Given the description of an element on the screen output the (x, y) to click on. 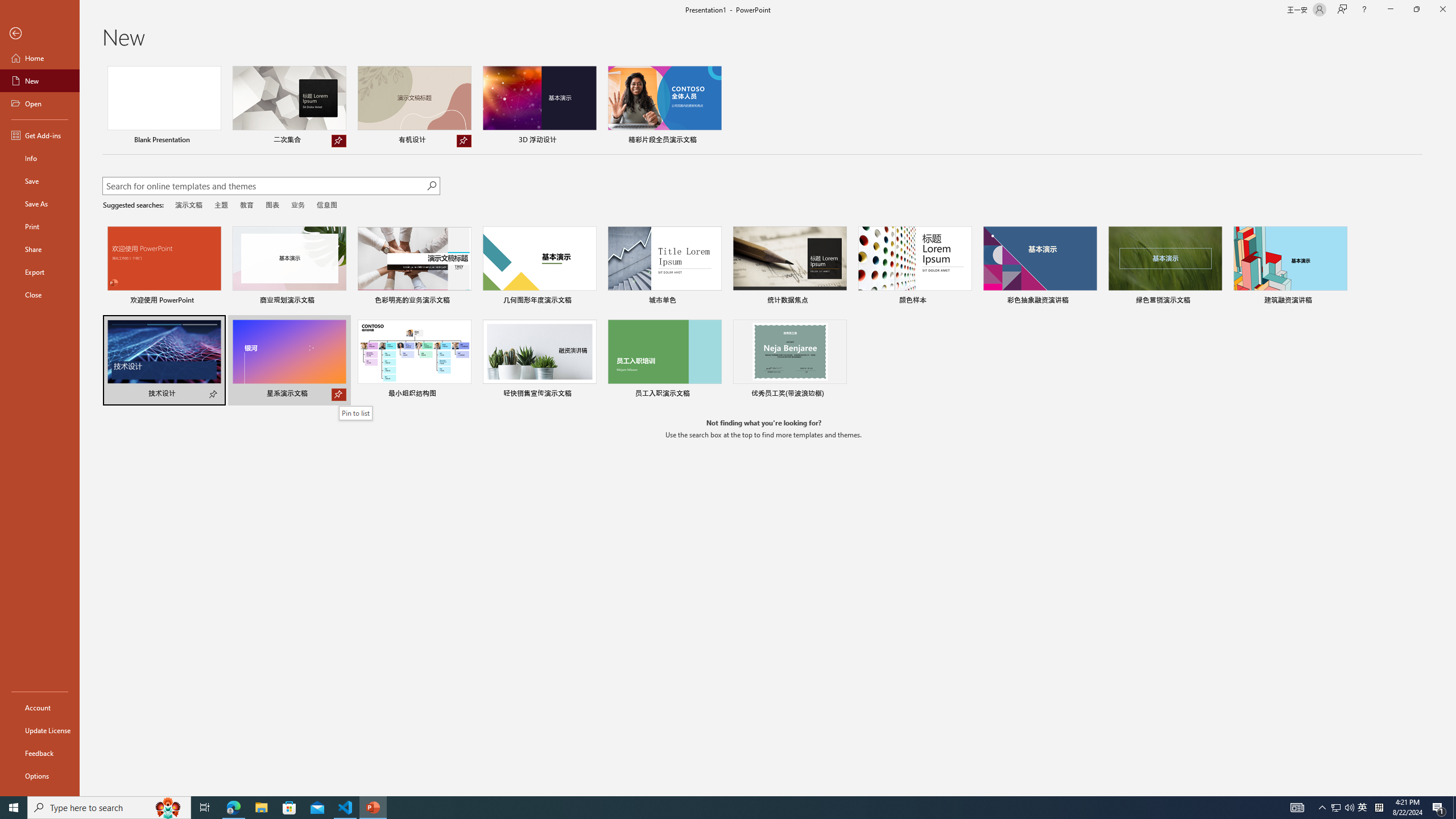
Info (40, 157)
Pin to list (839, 394)
Update License (40, 730)
Export (40, 271)
Options (40, 775)
